Given the description of an element on the screen output the (x, y) to click on. 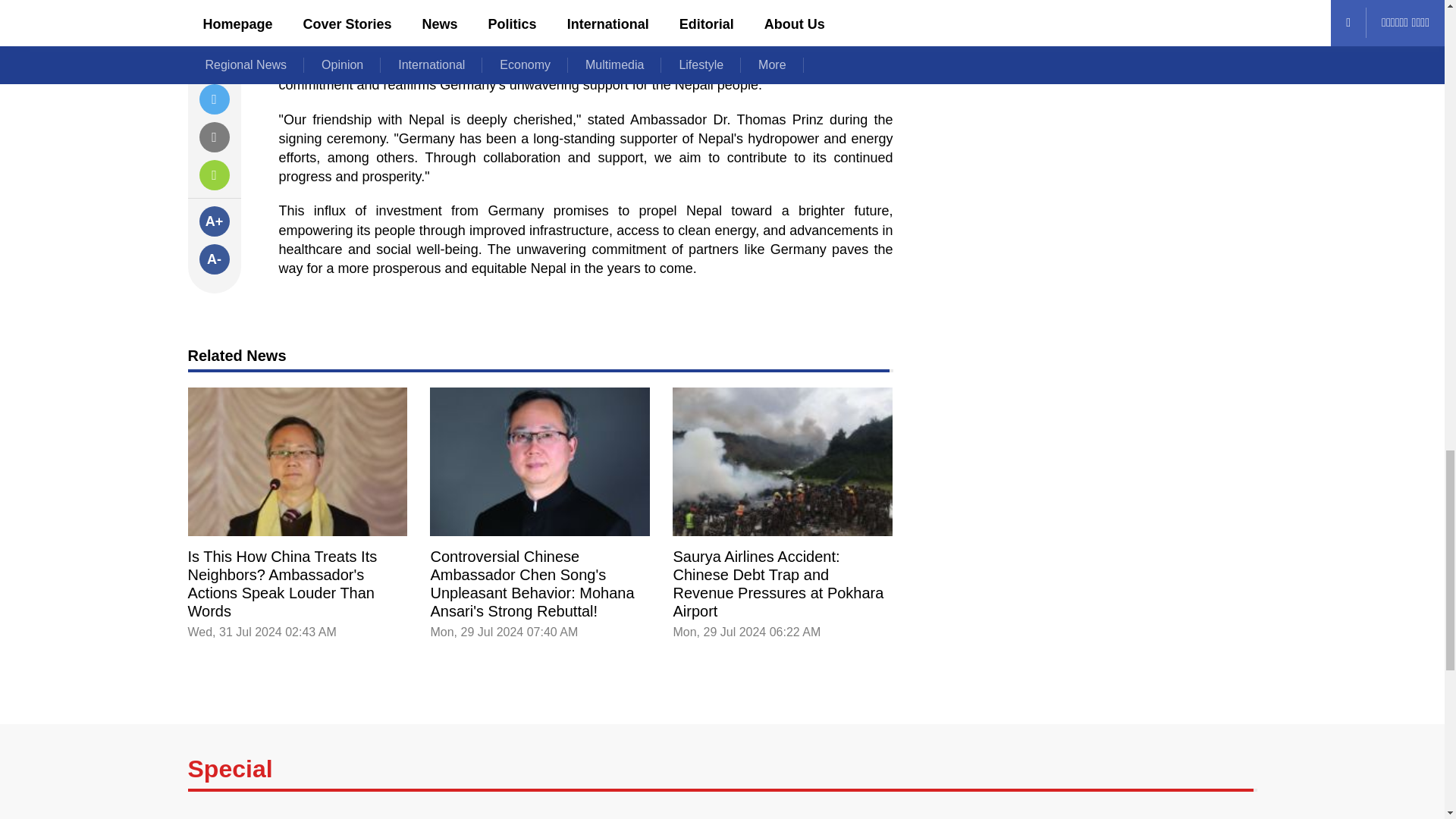
Mon, 29 Jul 2024 07:40 AM (503, 631)
Wed, 31 Jul 2024 02:43 AM (261, 631)
